Given the description of an element on the screen output the (x, y) to click on. 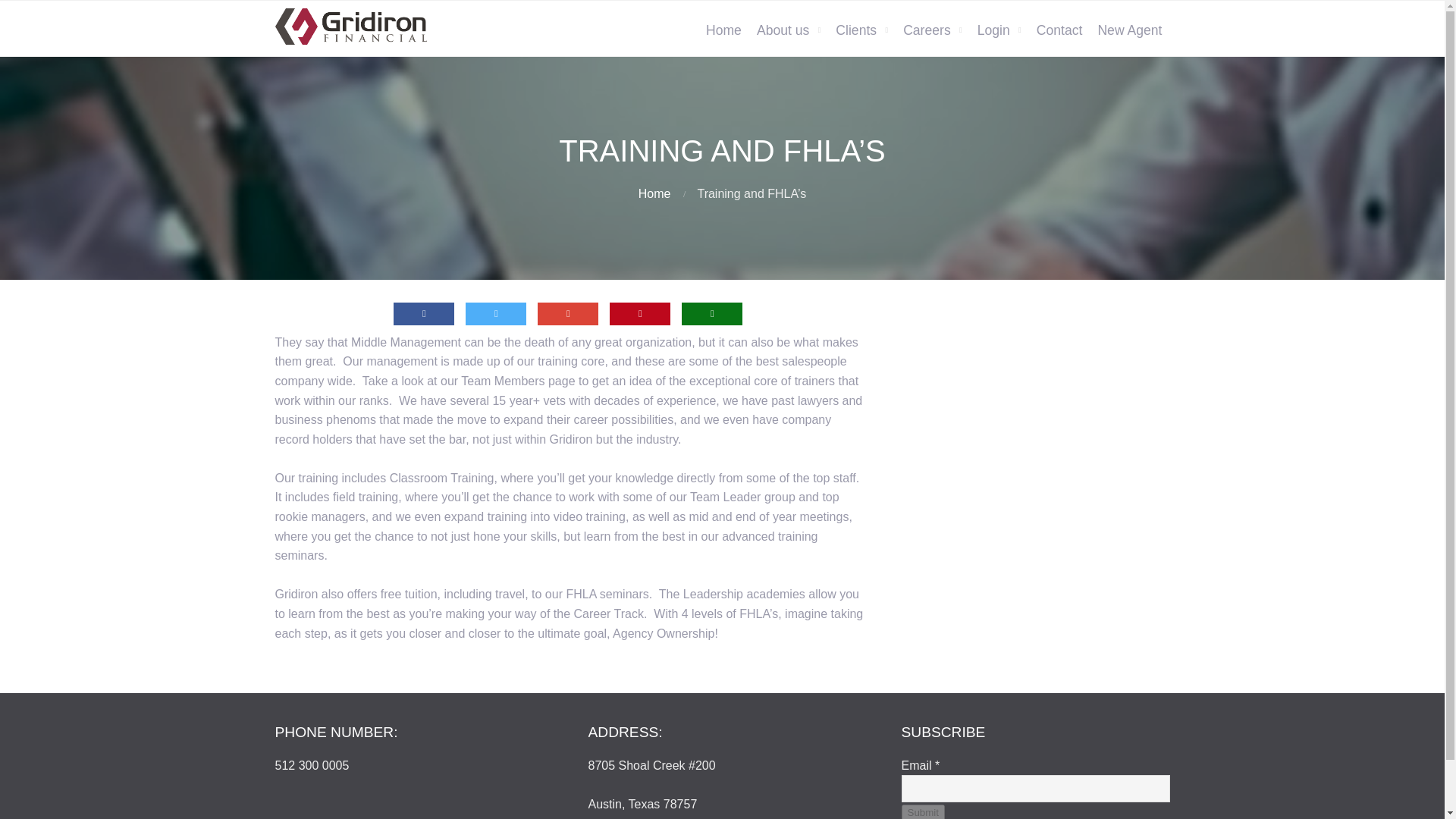
Careers (932, 30)
Home (655, 193)
Home (723, 30)
About us (788, 30)
Clients (861, 30)
Login (999, 30)
New Agent (1129, 30)
Contact (1059, 30)
Submit (922, 811)
